Given the description of an element on the screen output the (x, y) to click on. 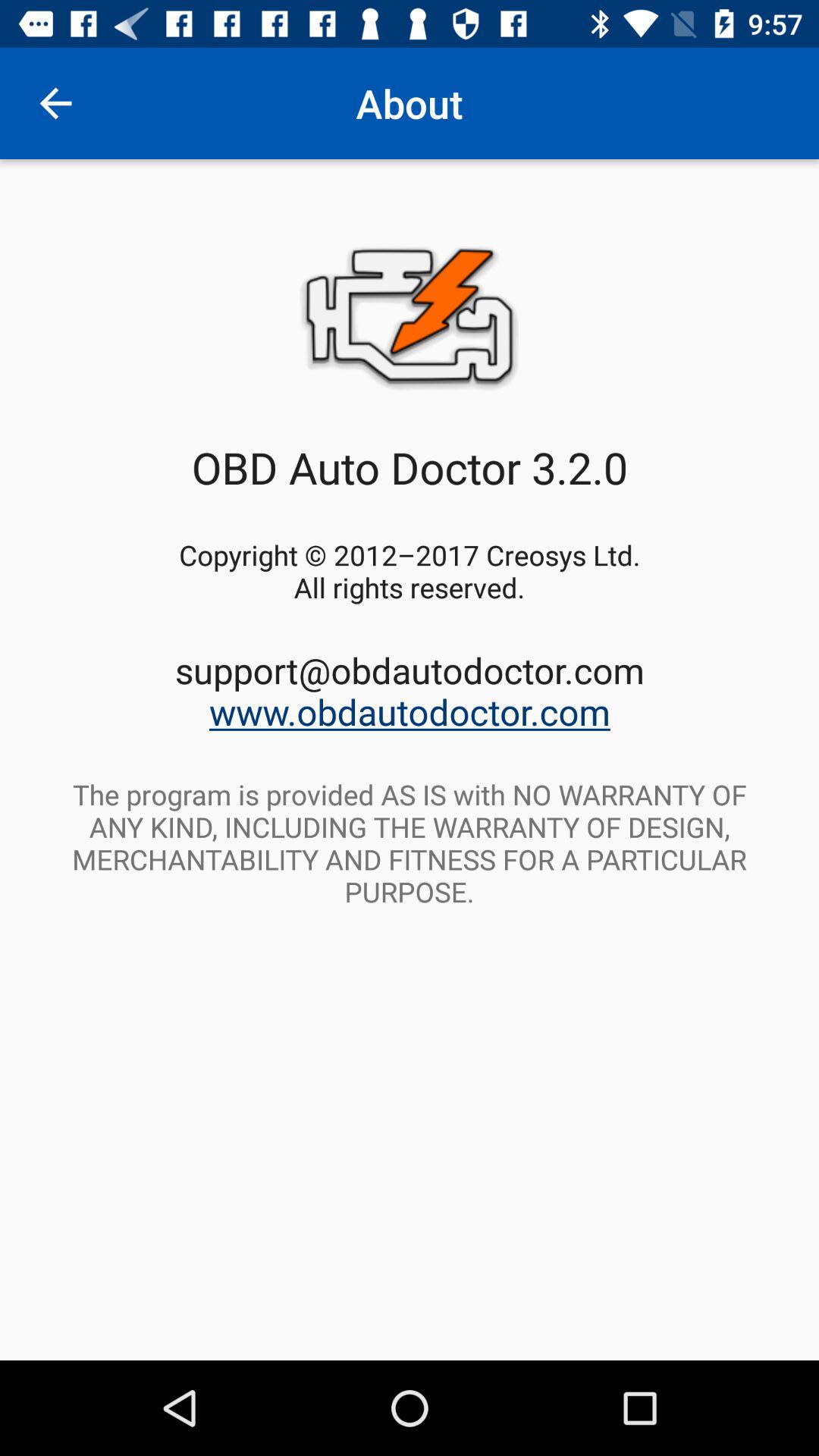
turn on icon above obd auto doctor item (55, 103)
